Given the description of an element on the screen output the (x, y) to click on. 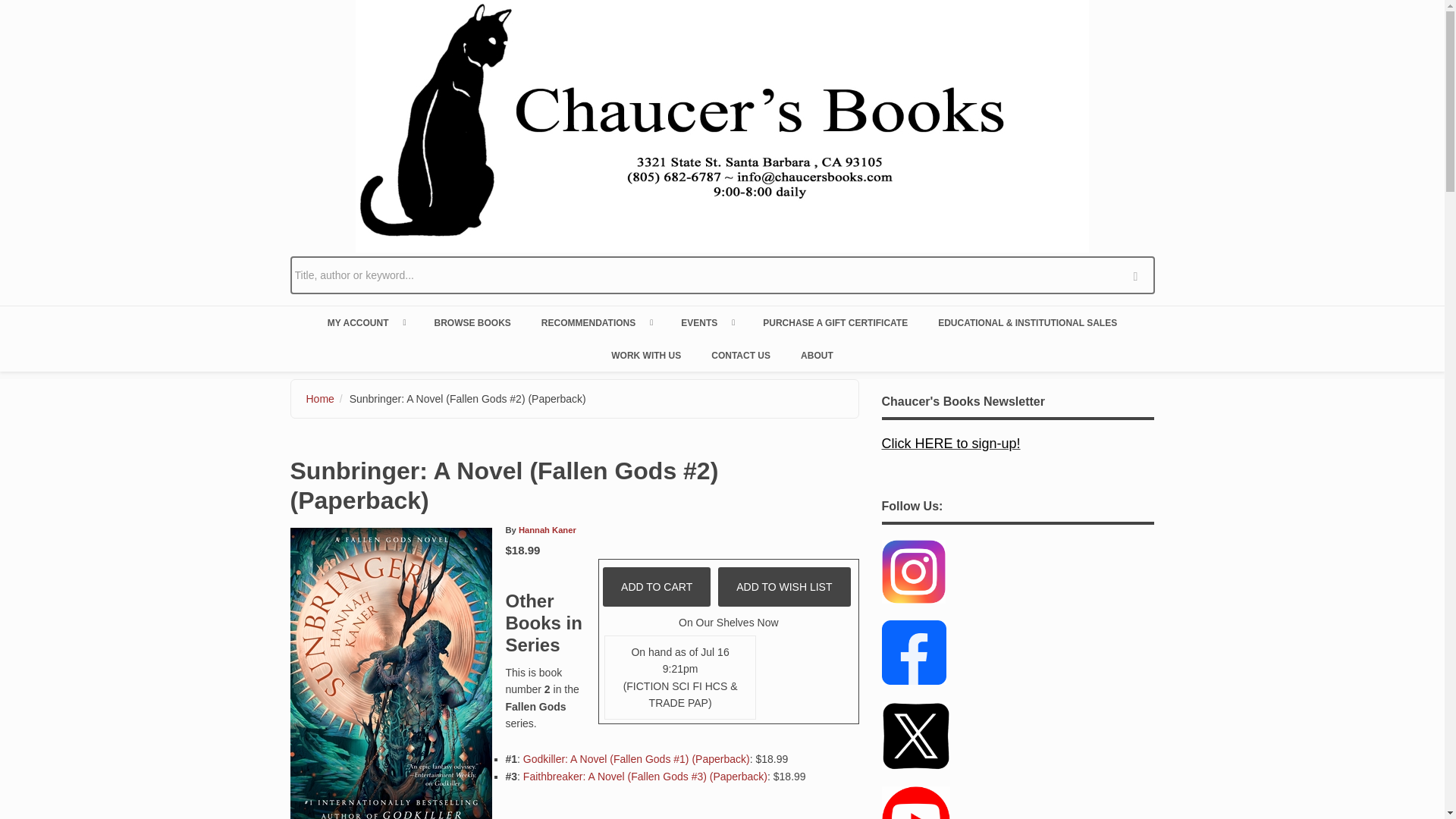
MY ACCOUNT (366, 322)
Title, author or keyword... (721, 275)
Home (319, 398)
CONTACT US (740, 354)
ABOUT (817, 354)
Home (722, 124)
Hannah Kaner (547, 529)
PURCHASE A GIFT CERTIFICATE (835, 322)
Add to Cart (656, 586)
Click HERE to sign-up! (950, 444)
ADD TO WISH LIST (783, 586)
WORK WITH US (645, 354)
BROWSE BOOKS (472, 322)
RECOMMENDATIONS (595, 322)
Add to Cart (656, 586)
